Given the description of an element on the screen output the (x, y) to click on. 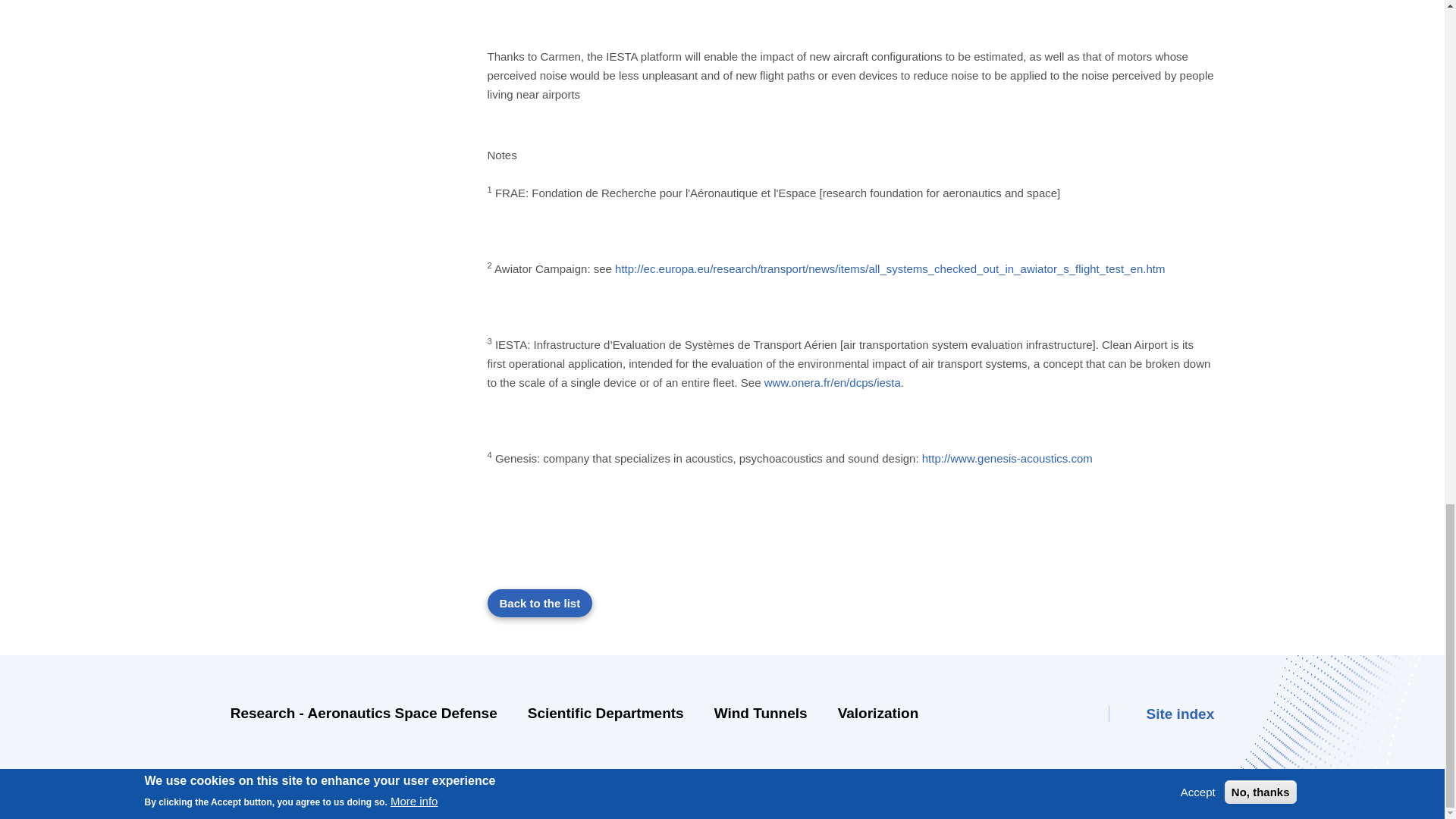
Back to the list (539, 602)
